Given the description of an element on the screen output the (x, y) to click on. 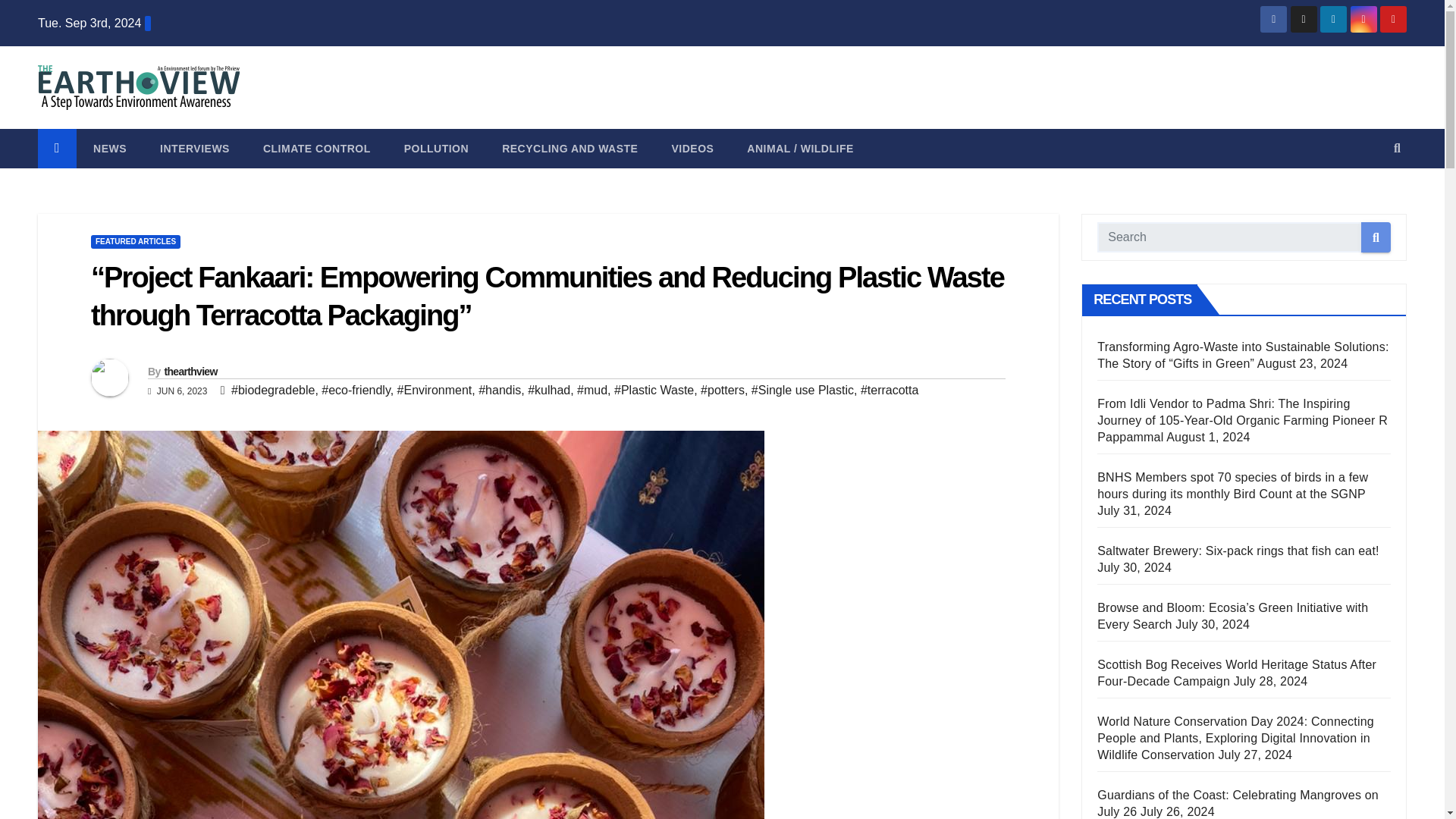
Pollution (435, 148)
CLIMATE CONTROL (316, 148)
Recycling and Waste (568, 148)
POLLUTION (435, 148)
NEWS (109, 148)
INTERVIEWS (194, 148)
RECYCLING AND WASTE (568, 148)
Interviews (194, 148)
thearthview (189, 371)
VIDEOS (691, 148)
